Given the description of an element on the screen output the (x, y) to click on. 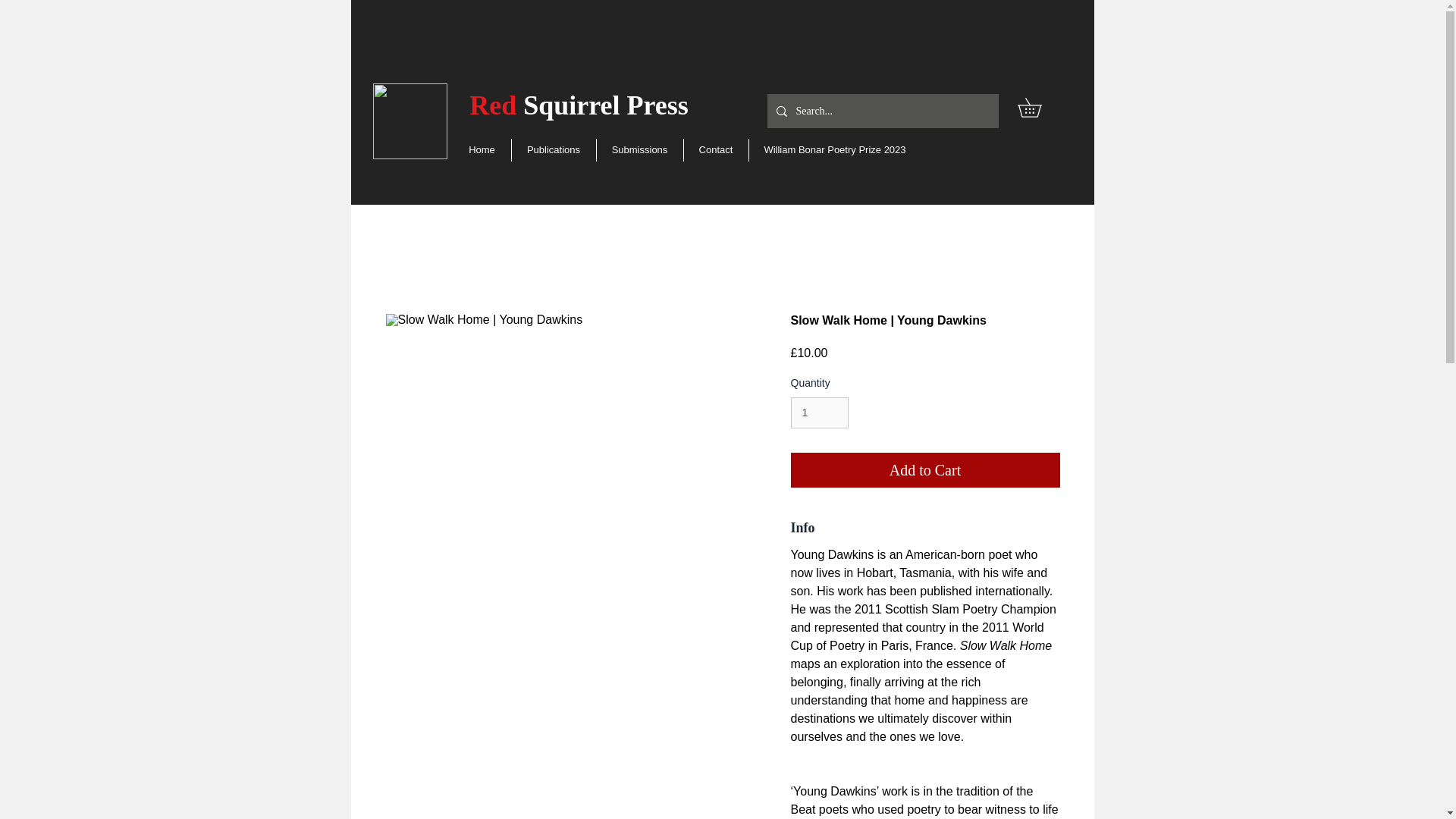
William Bonar Poetry Prize 2023 (835, 149)
Publications (553, 149)
Red Squirrel Press (578, 105)
1 (818, 412)
Add to Cart (924, 469)
Submissions (638, 149)
Home (481, 149)
Contact (716, 149)
